Given the description of an element on the screen output the (x, y) to click on. 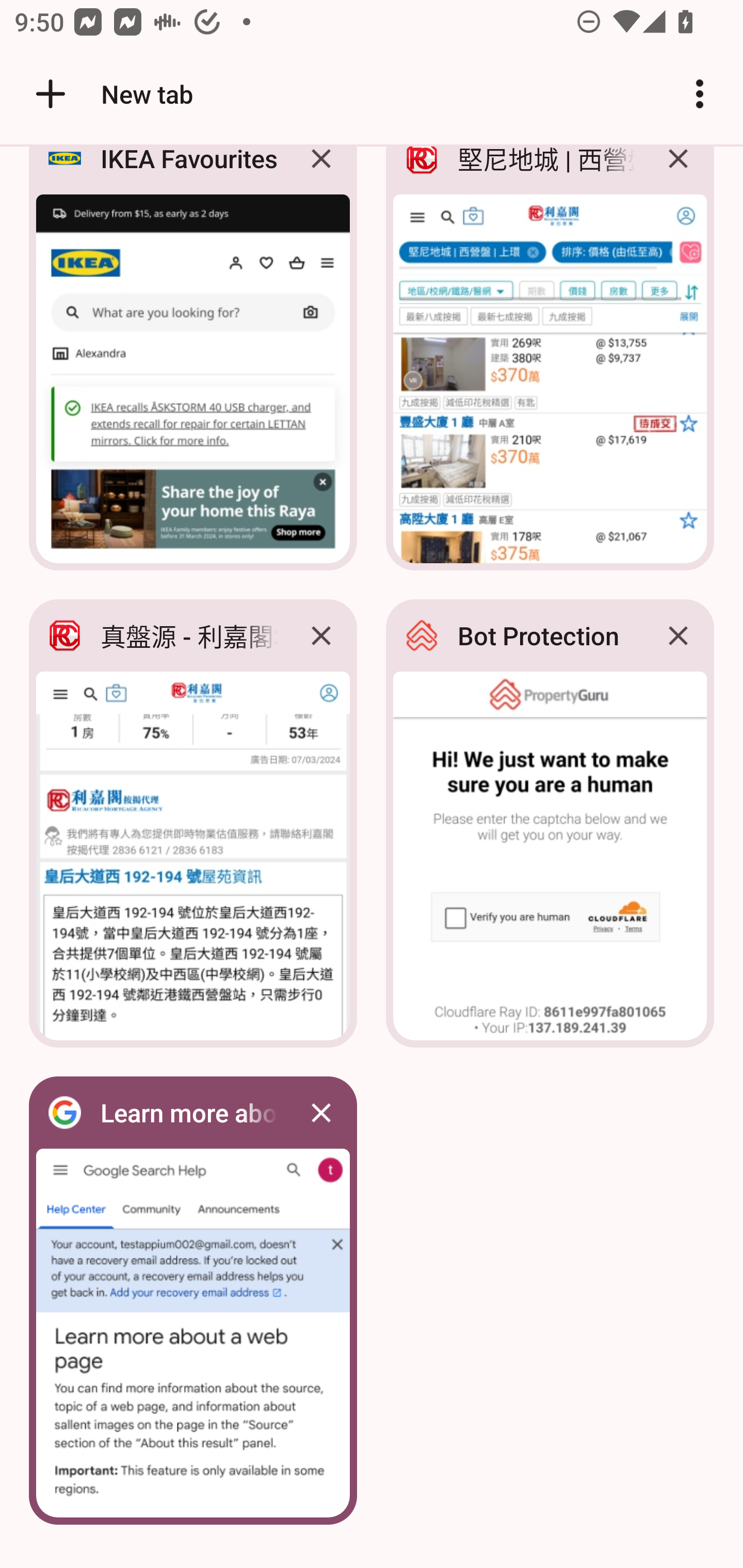
New tab (111, 93)
Customize and control Google Chrome (699, 93)
Close IKEA Favourites tab (320, 173)
Close 真盤源 - 利嘉閣地產 - 中上環/西區 皇后大道西 192-194 號 tab (320, 635)
Close Bot Protection tab (677, 635)
